Given the description of an element on the screen output the (x, y) to click on. 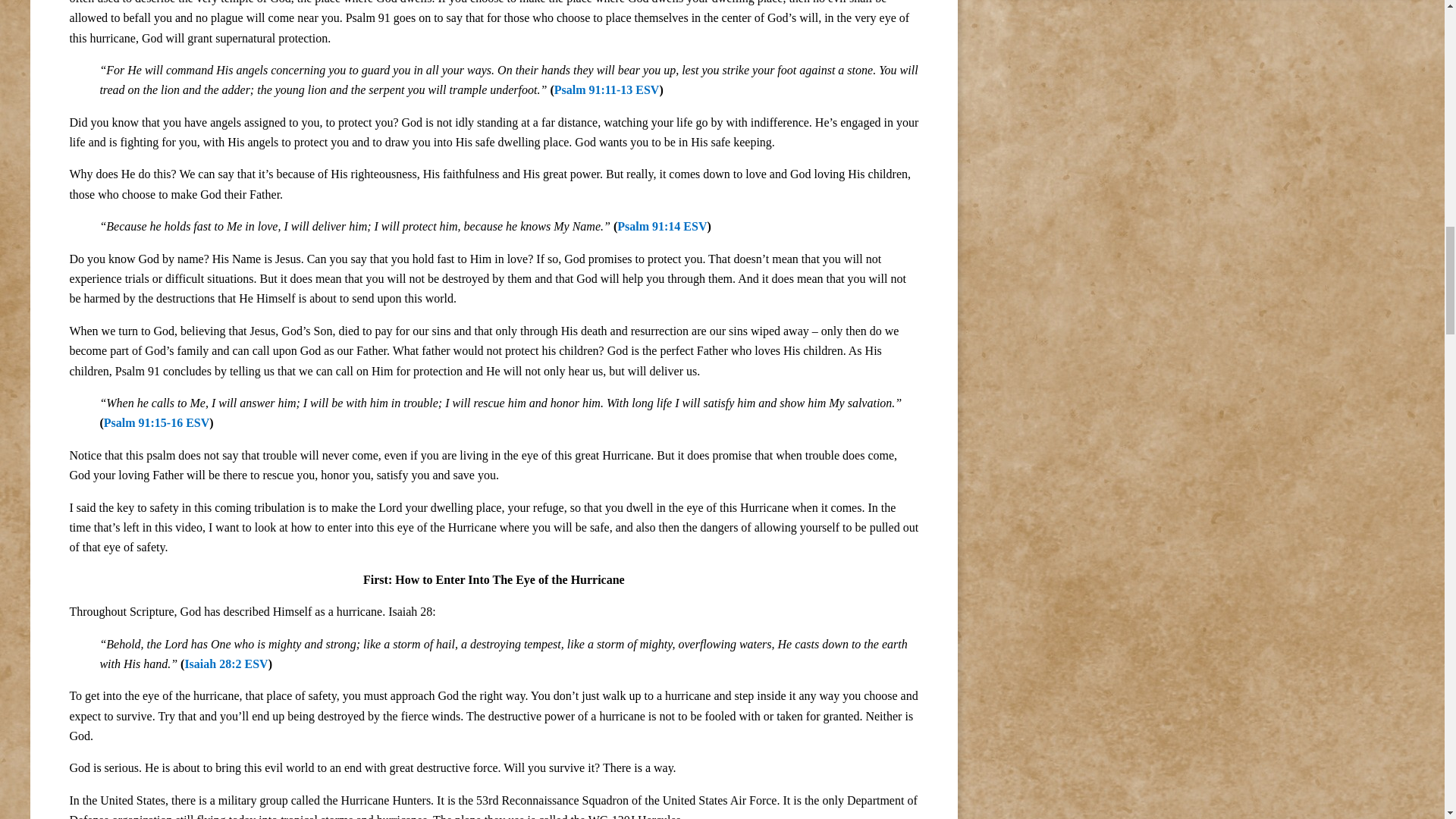
Psalm 91:15-16 ESV (156, 422)
Isaiah 28:2 ESV (225, 663)
Psalm 91:11-13 ESV (606, 89)
Psalm 91:14 ESV (661, 226)
